Given the description of an element on the screen output the (x, y) to click on. 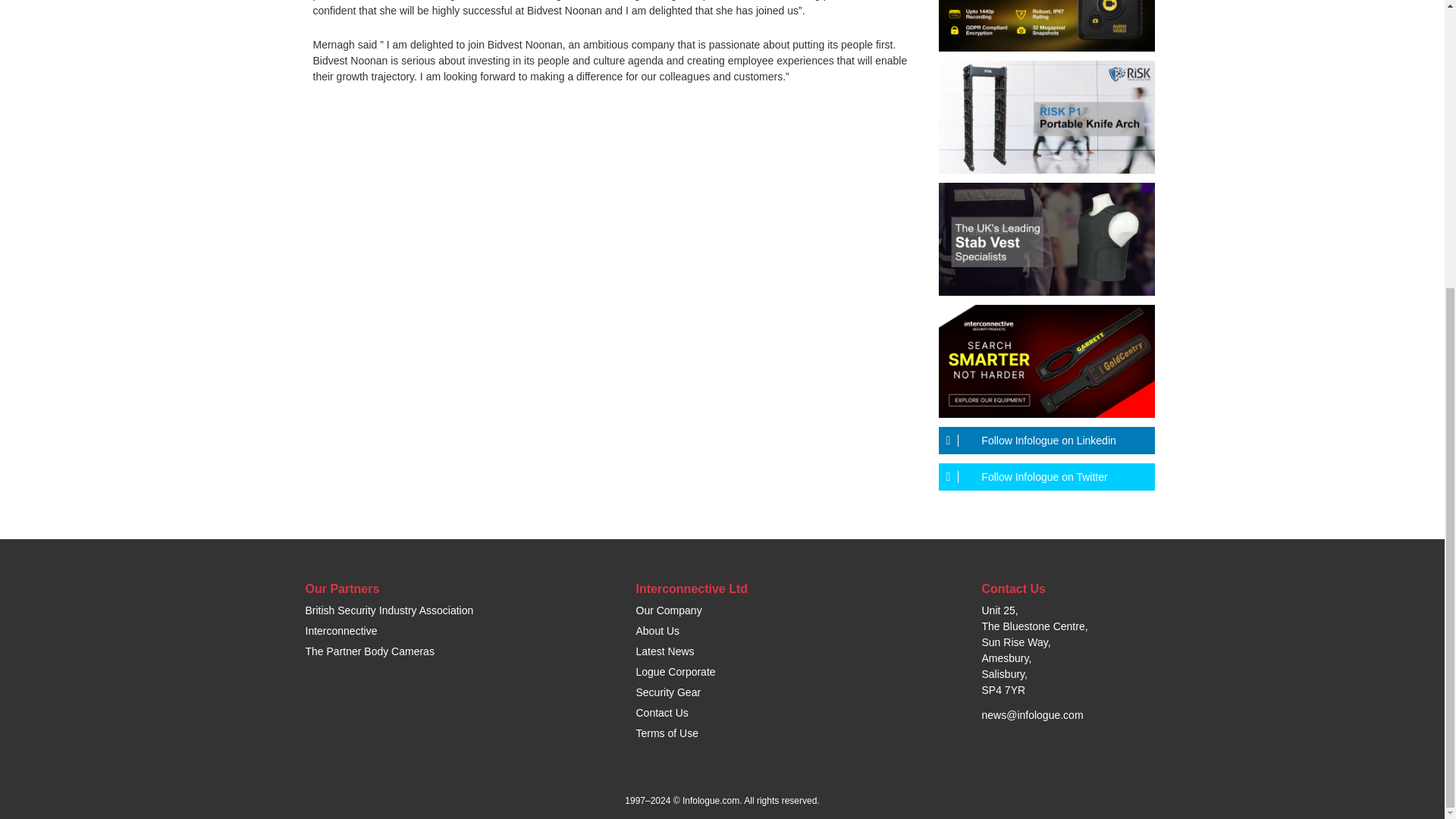
Follow Infologue on Linkedin (1046, 440)
Follow Infologue on Twitter (1046, 476)
